Given the description of an element on the screen output the (x, y) to click on. 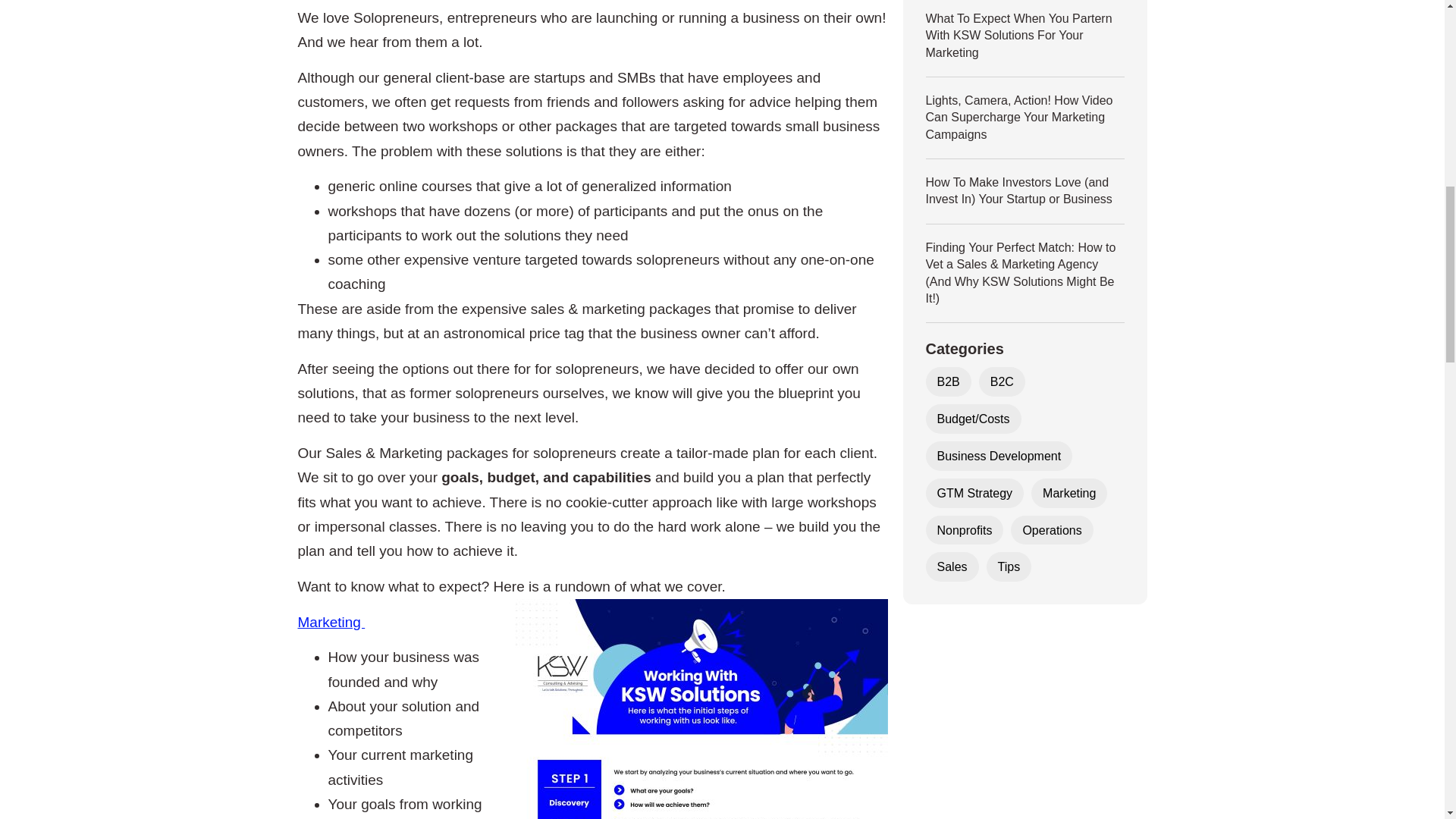
GTM Strategy (975, 492)
Marketing  (331, 621)
Business Development (999, 455)
Marketing (1069, 492)
B2B (948, 381)
B2C (1001, 381)
Nonprofits (964, 530)
